Given the description of an element on the screen output the (x, y) to click on. 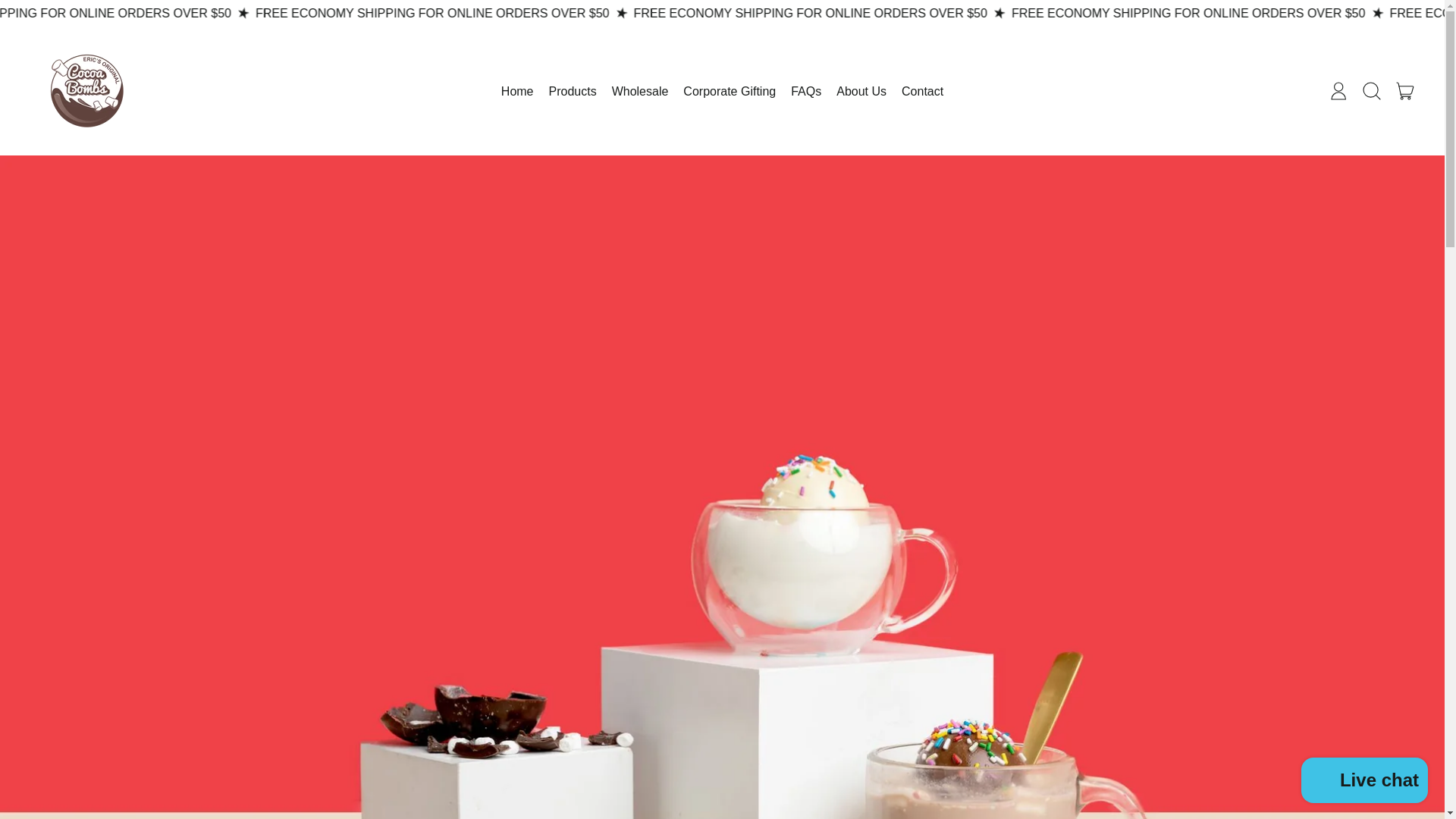
FAQs (1405, 90)
Log in (805, 90)
Wholesale (1338, 90)
Shopify online store chat (640, 90)
Corporate Gifting (1364, 781)
Contact (729, 90)
Search our site (921, 90)
About Us (1372, 90)
Products (860, 90)
